Given the description of an element on the screen output the (x, y) to click on. 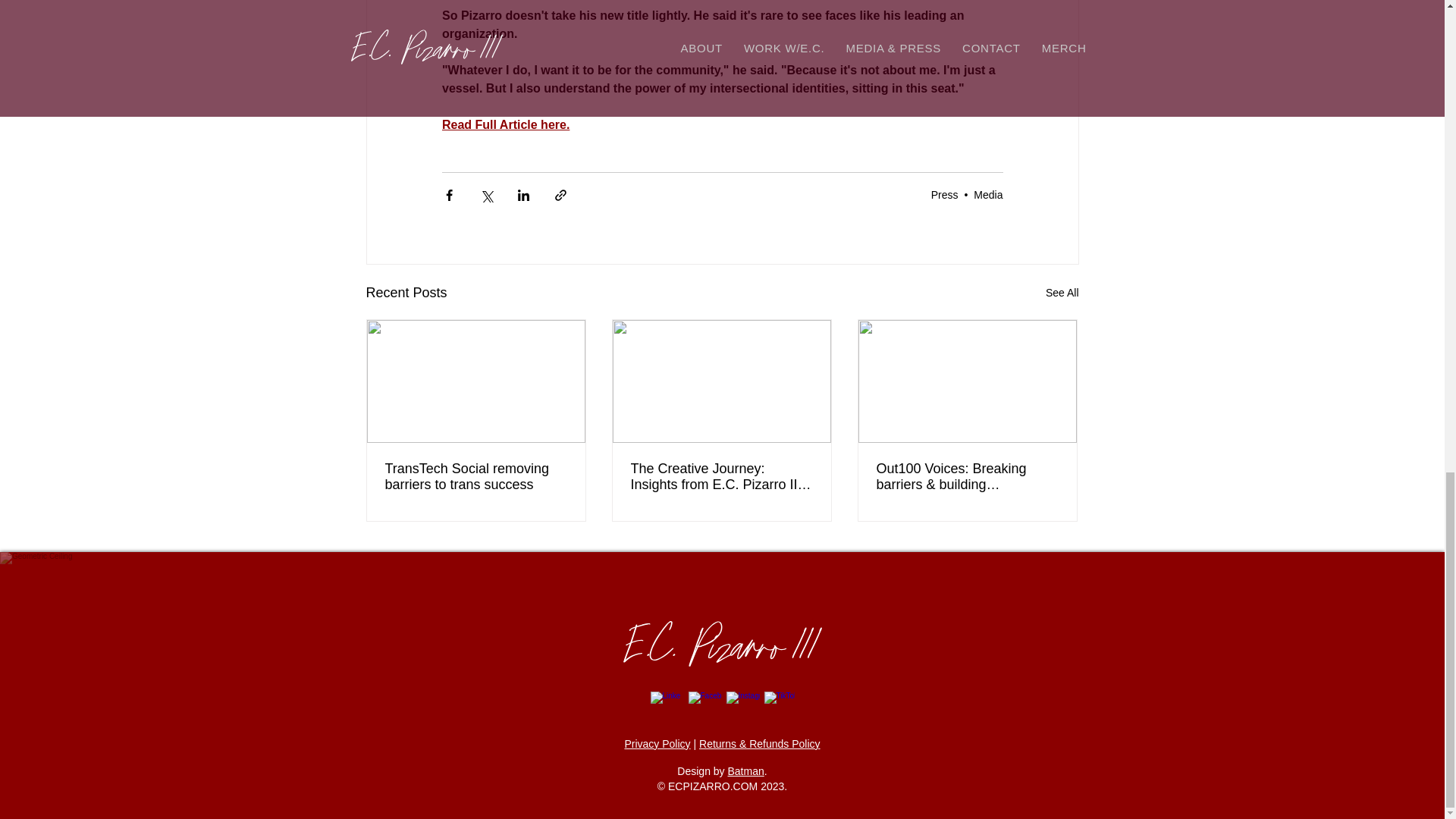
Batman (746, 770)
TransTech Social removing barriers to trans success (476, 477)
Read Full Article here. (505, 124)
Press (944, 194)
See All (1061, 292)
Media (988, 194)
Privacy Policy (657, 743)
